Given the description of an element on the screen output the (x, y) to click on. 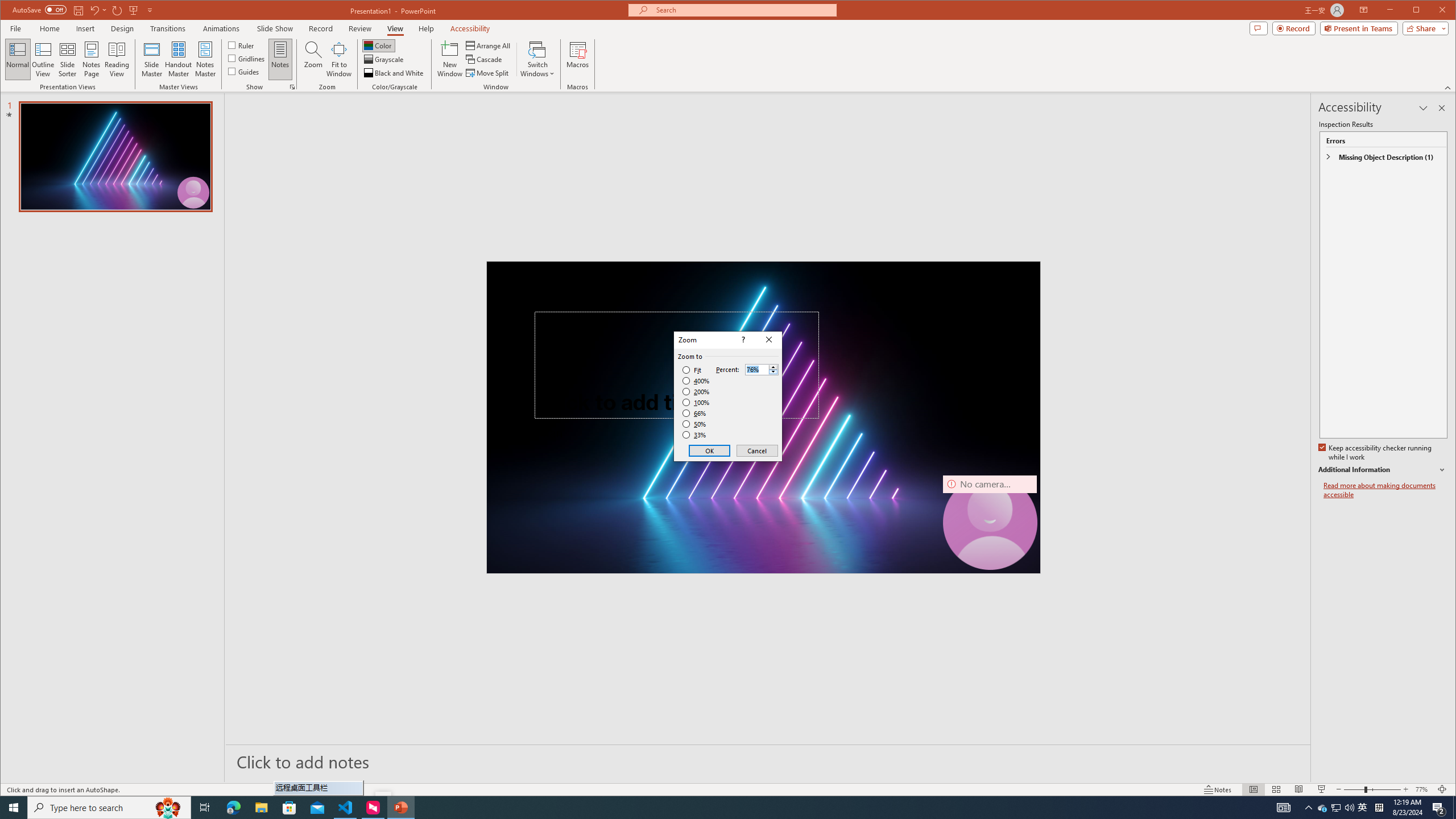
Notes Master (204, 59)
100% (696, 402)
66% (694, 412)
OK (709, 450)
33% (694, 434)
New Window (450, 59)
